Given the description of an element on the screen output the (x, y) to click on. 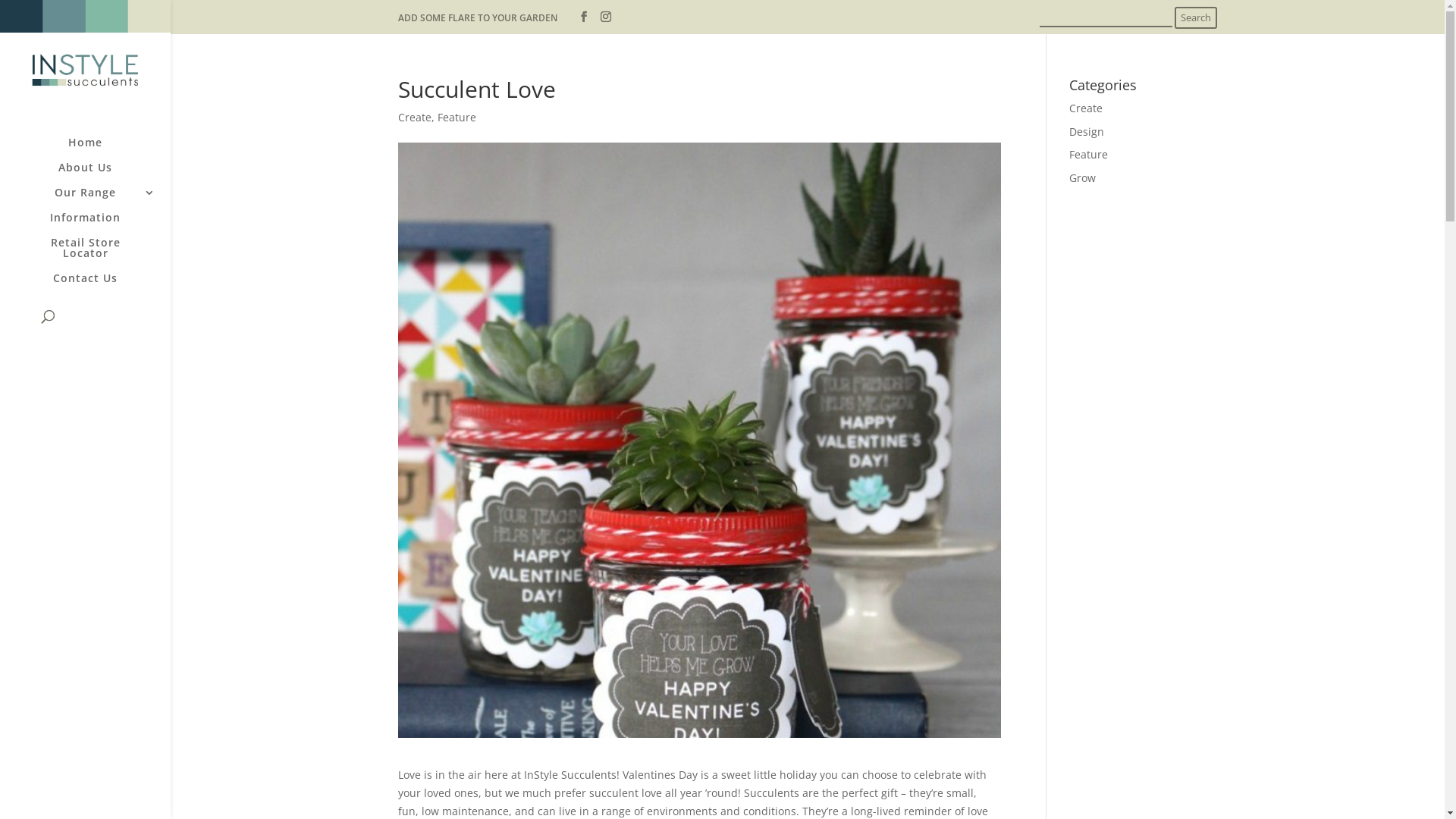
Contact Us Element type: text (100, 285)
Retail Store Locator Element type: text (100, 255)
Grow Element type: text (1082, 177)
Create Element type: text (414, 116)
Feature Element type: text (456, 116)
Home Element type: text (100, 149)
Create Element type: text (1085, 107)
Information Element type: text (100, 224)
About Us Element type: text (100, 174)
Search Element type: text (1195, 17)
Feature Element type: text (1088, 154)
Our Range Element type: text (100, 199)
Design Element type: text (1086, 131)
